Given the description of an element on the screen output the (x, y) to click on. 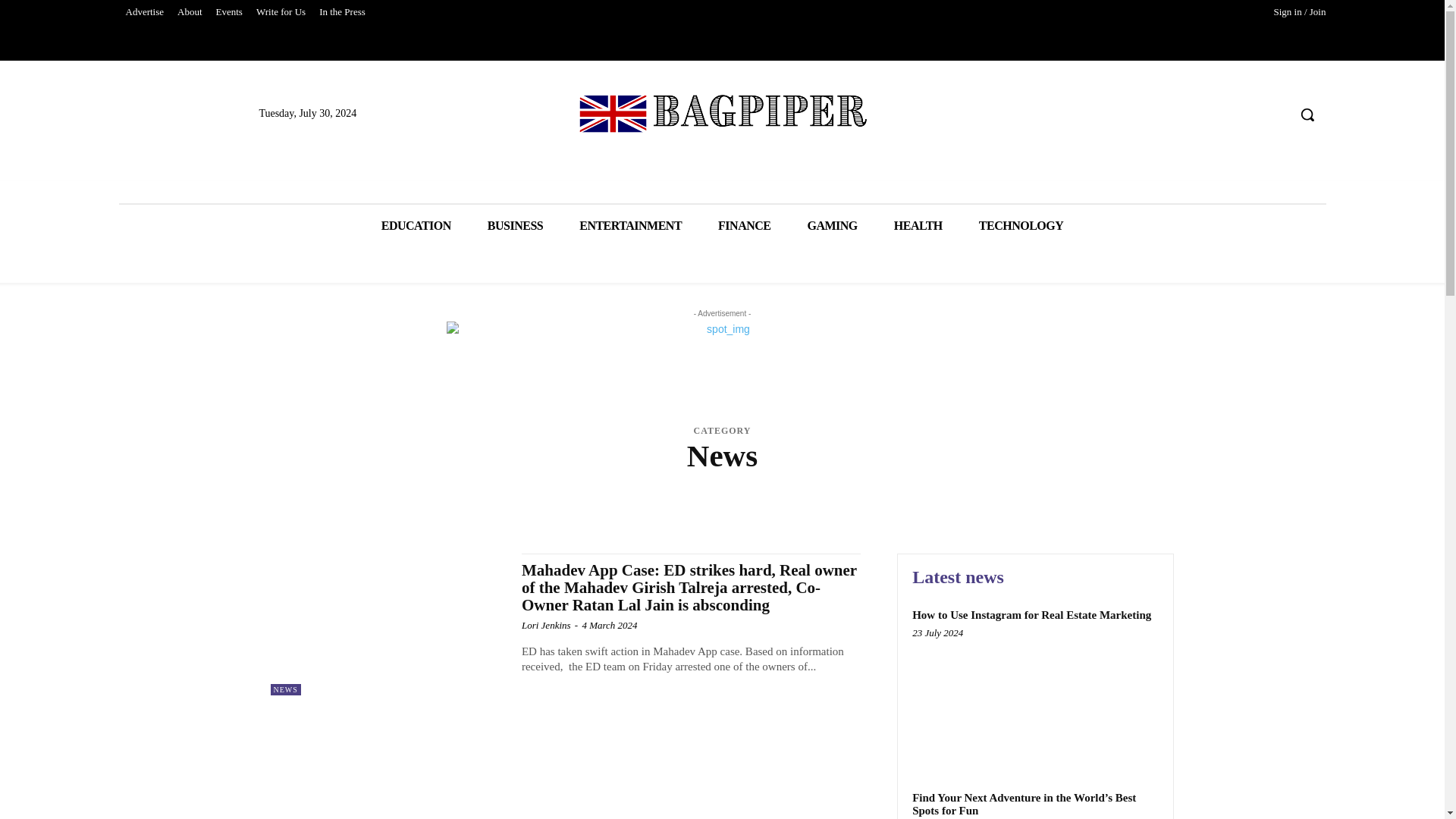
Advertise (143, 12)
Events (228, 12)
HEALTH (918, 225)
About (189, 12)
FINANCE (744, 225)
GAMING (832, 225)
ENTERTAINMENT (630, 225)
In the Press (342, 12)
TECHNOLOGY (1020, 225)
Write for Us (280, 12)
EDUCATION (415, 225)
BUSINESS (514, 225)
